Given the description of an element on the screen output the (x, y) to click on. 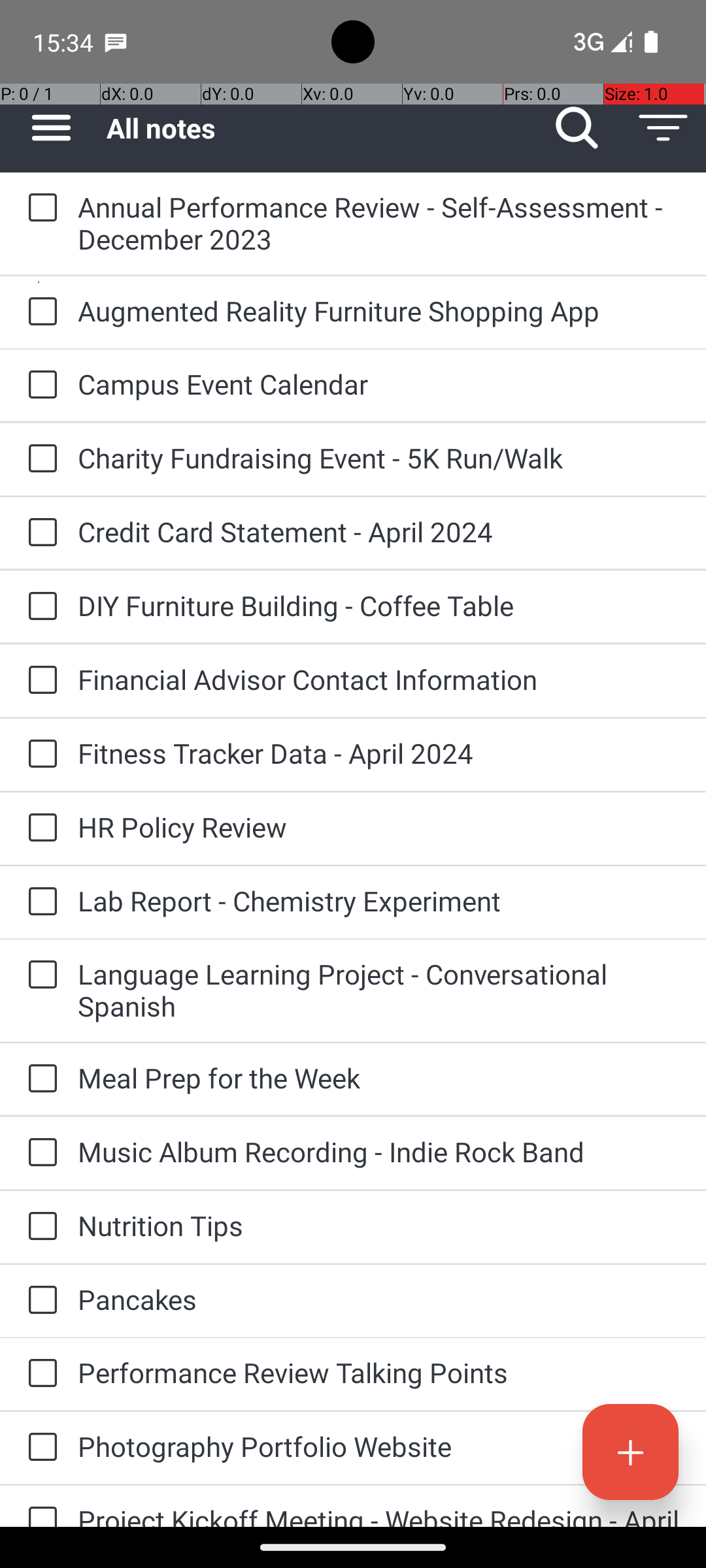
to-do: Annual Performance Review - Self-Assessment - December 2023 Element type: android.widget.CheckBox (38, 208)
Annual Performance Review - Self-Assessment - December 2023 Element type: android.widget.TextView (378, 222)
to-do: Augmented Reality Furniture Shopping App Element type: android.widget.CheckBox (38, 312)
Augmented Reality Furniture Shopping App Element type: android.widget.TextView (378, 310)
to-do: Campus Event Calendar Element type: android.widget.CheckBox (38, 385)
Campus Event Calendar Element type: android.widget.TextView (378, 383)
to-do: Charity Fundraising Event - 5K Run/Walk Element type: android.widget.CheckBox (38, 459)
Charity Fundraising Event - 5K Run/Walk Element type: android.widget.TextView (378, 457)
to-do: Credit Card Statement - April 2024 Element type: android.widget.CheckBox (38, 533)
Credit Card Statement - April 2024 Element type: android.widget.TextView (378, 531)
to-do: DIY Furniture Building - Coffee Table Element type: android.widget.CheckBox (38, 606)
DIY Furniture Building - Coffee Table Element type: android.widget.TextView (378, 604)
to-do: Financial Advisor Contact Information Element type: android.widget.CheckBox (38, 680)
Financial Advisor Contact Information Element type: android.widget.TextView (378, 678)
to-do: Fitness Tracker Data - April 2024 Element type: android.widget.CheckBox (38, 754)
Fitness Tracker Data - April 2024 Element type: android.widget.TextView (378, 752)
to-do: HR Policy Review Element type: android.widget.CheckBox (38, 828)
HR Policy Review Element type: android.widget.TextView (378, 826)
to-do: Lab Report - Chemistry Experiment Element type: android.widget.CheckBox (38, 902)
Lab Report - Chemistry Experiment Element type: android.widget.TextView (378, 900)
to-do: Language Learning Project - Conversational Spanish Element type: android.widget.CheckBox (38, 975)
Language Learning Project - Conversational Spanish Element type: android.widget.TextView (378, 989)
to-do: Meal Prep for the Week Element type: android.widget.CheckBox (38, 1079)
Meal Prep for the Week Element type: android.widget.TextView (378, 1077)
to-do: Music Album Recording - Indie Rock Band Element type: android.widget.CheckBox (38, 1153)
Music Album Recording - Indie Rock Band Element type: android.widget.TextView (378, 1151)
to-do: Nutrition Tips Element type: android.widget.CheckBox (38, 1226)
Nutrition Tips Element type: android.widget.TextView (378, 1224)
to-do: Pancakes Element type: android.widget.CheckBox (38, 1300)
Pancakes Element type: android.widget.TextView (378, 1298)
to-do: Performance Review Talking Points Element type: android.widget.CheckBox (38, 1373)
Performance Review Talking Points Element type: android.widget.TextView (378, 1371)
to-do: Photography Portfolio Website Element type: android.widget.CheckBox (38, 1447)
Photography Portfolio Website Element type: android.widget.TextView (378, 1445)
to-do: Project Kickoff Meeting - Website Redesign - April 10, 2024 Element type: android.widget.CheckBox (38, 1505)
Project Kickoff Meeting - Website Redesign - April 10, 2024 Element type: android.widget.TextView (378, 1513)
